Given the description of an element on the screen output the (x, y) to click on. 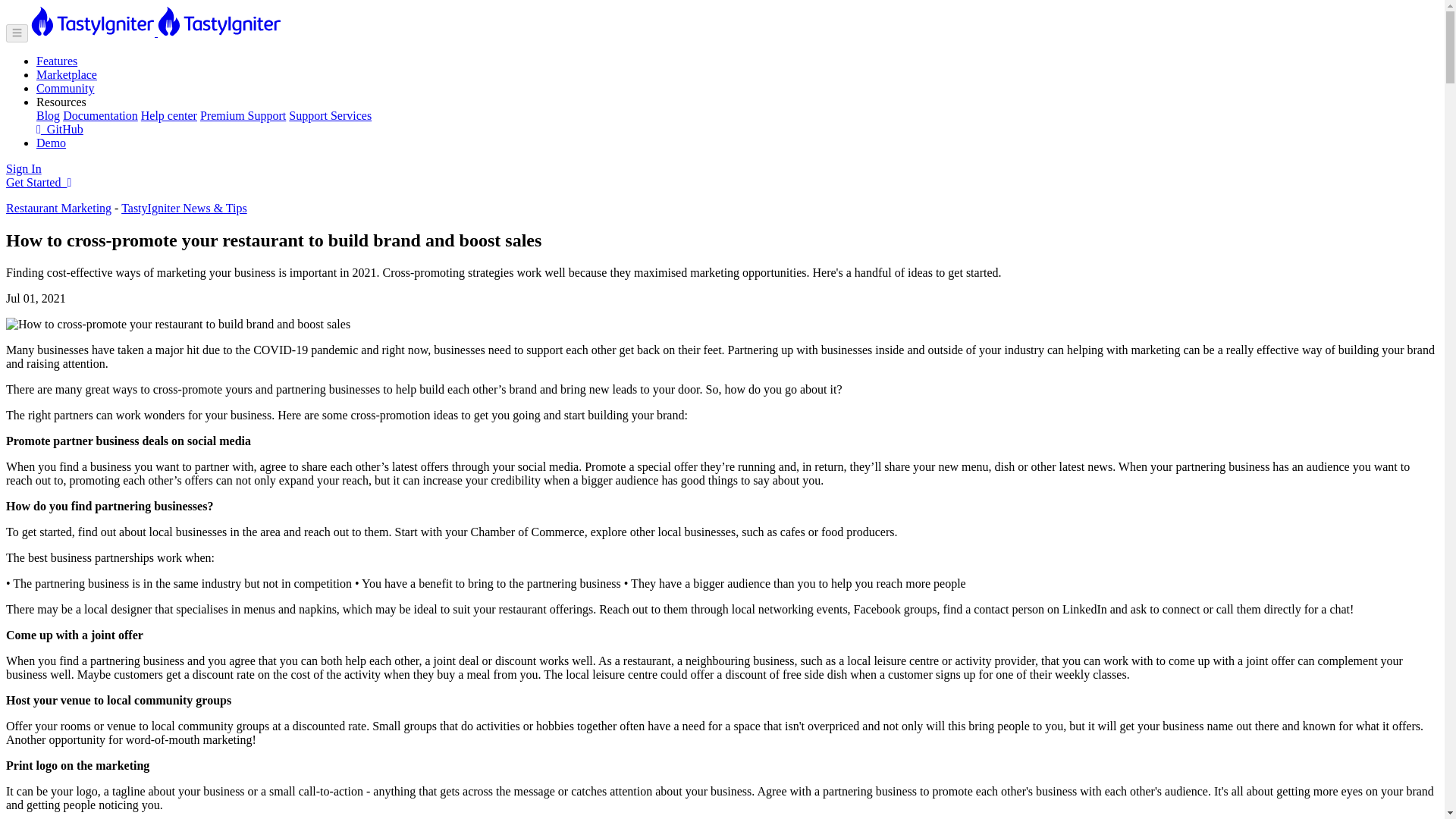
Get Started   (38, 182)
Restaurant Marketing (58, 207)
Resources (60, 101)
Help center (168, 115)
Sign In (23, 168)
Thu, Jul 01, 21 at 11:18 am (35, 297)
Blog (47, 115)
Community (65, 88)
  GitHub (59, 128)
Premium Support (242, 115)
